Given the description of an element on the screen output the (x, y) to click on. 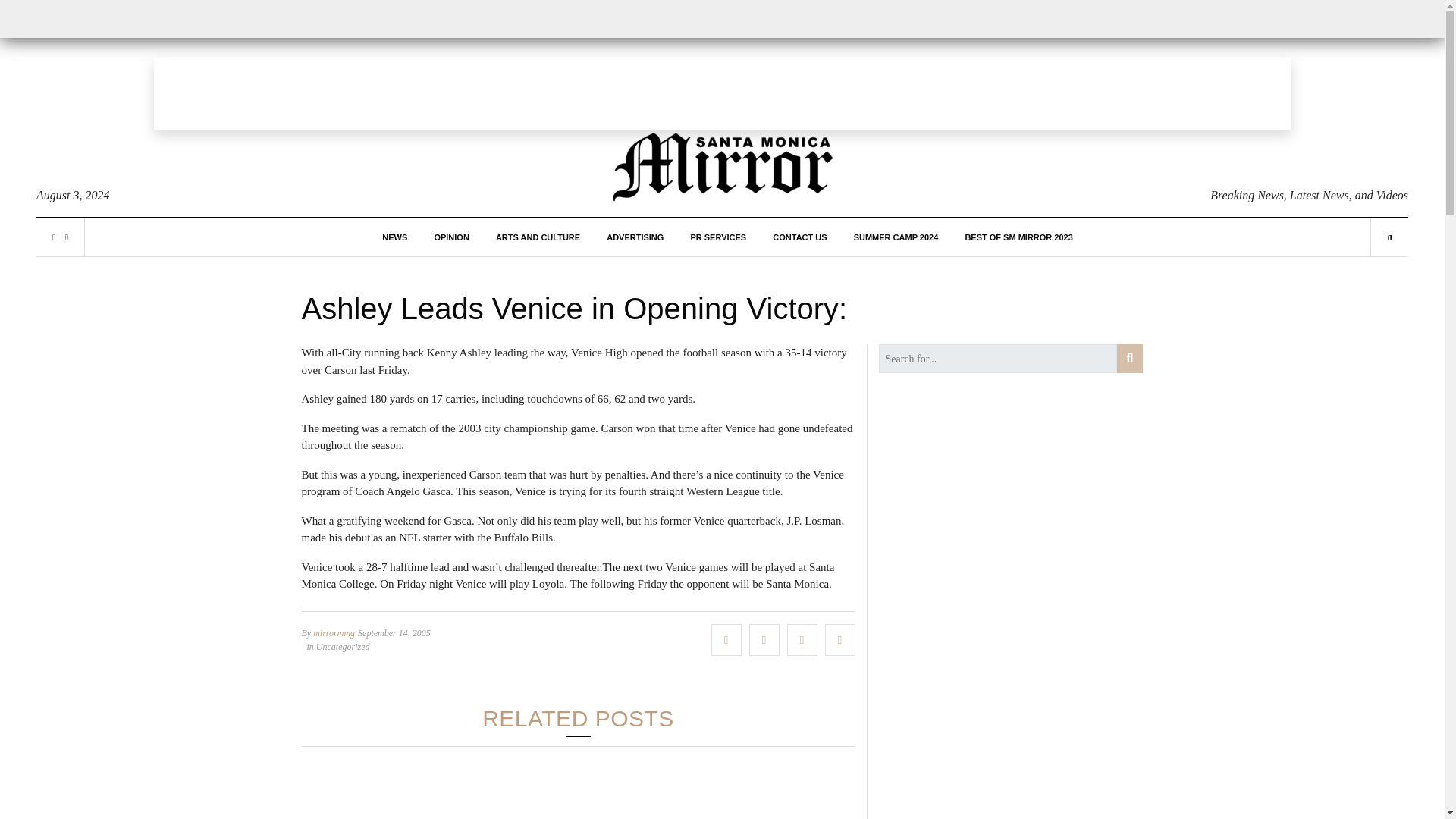
Posts by mirrormmg (334, 633)
mirrormmg (334, 633)
CONTACT US (800, 237)
ADVERTISING (635, 237)
OPINION (450, 237)
SUMMER CAMP 2024 (896, 237)
PR SERVICES (717, 237)
BEST OF SM MIRROR 2023 (1017, 237)
ARTS AND CULTURE (537, 237)
